Given the description of an element on the screen output the (x, y) to click on. 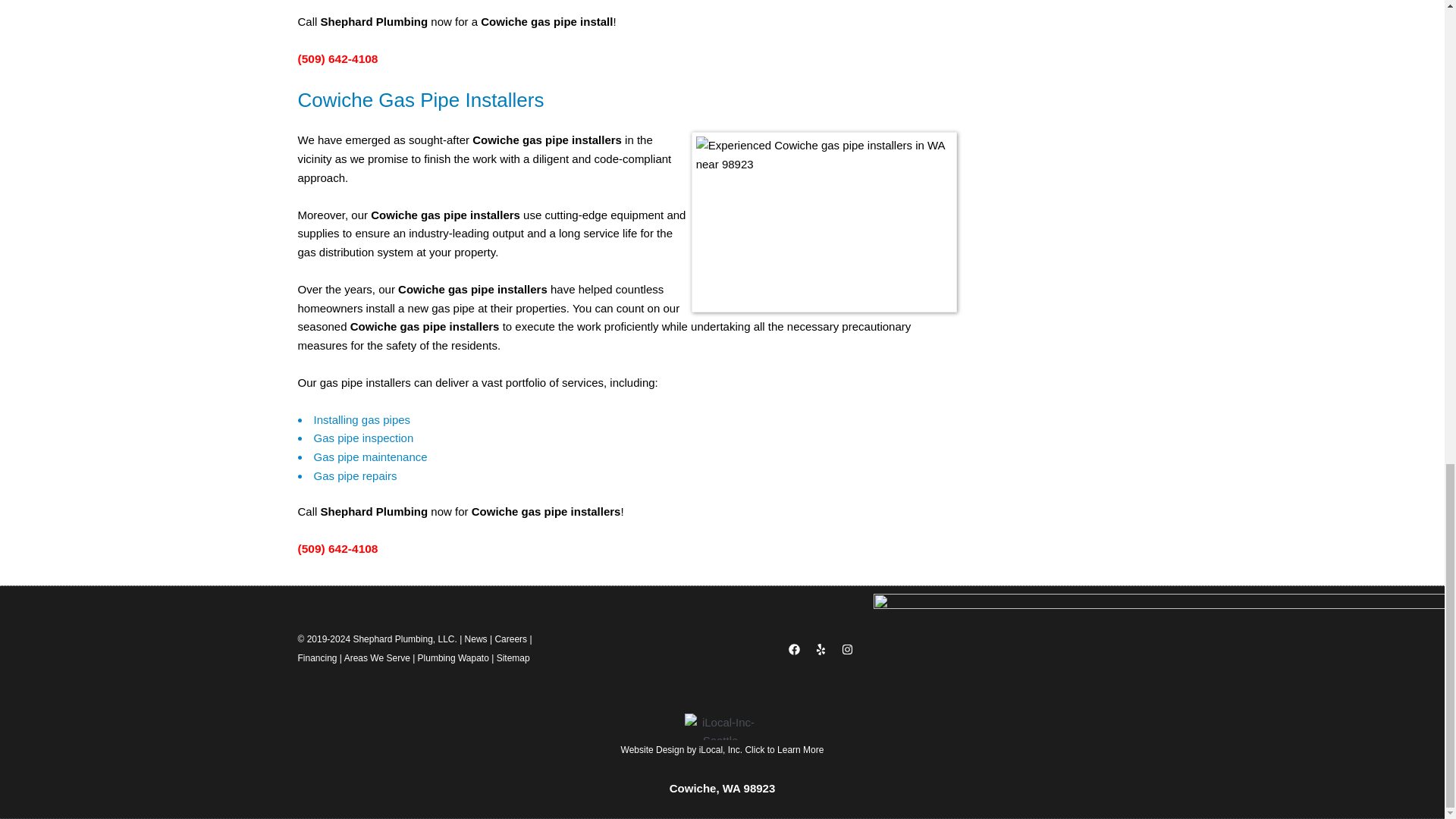
Cowiche Gas Pipe Installers (823, 221)
iLocal-Inc-Seattle-Washington (722, 726)
